Given the description of an element on the screen output the (x, y) to click on. 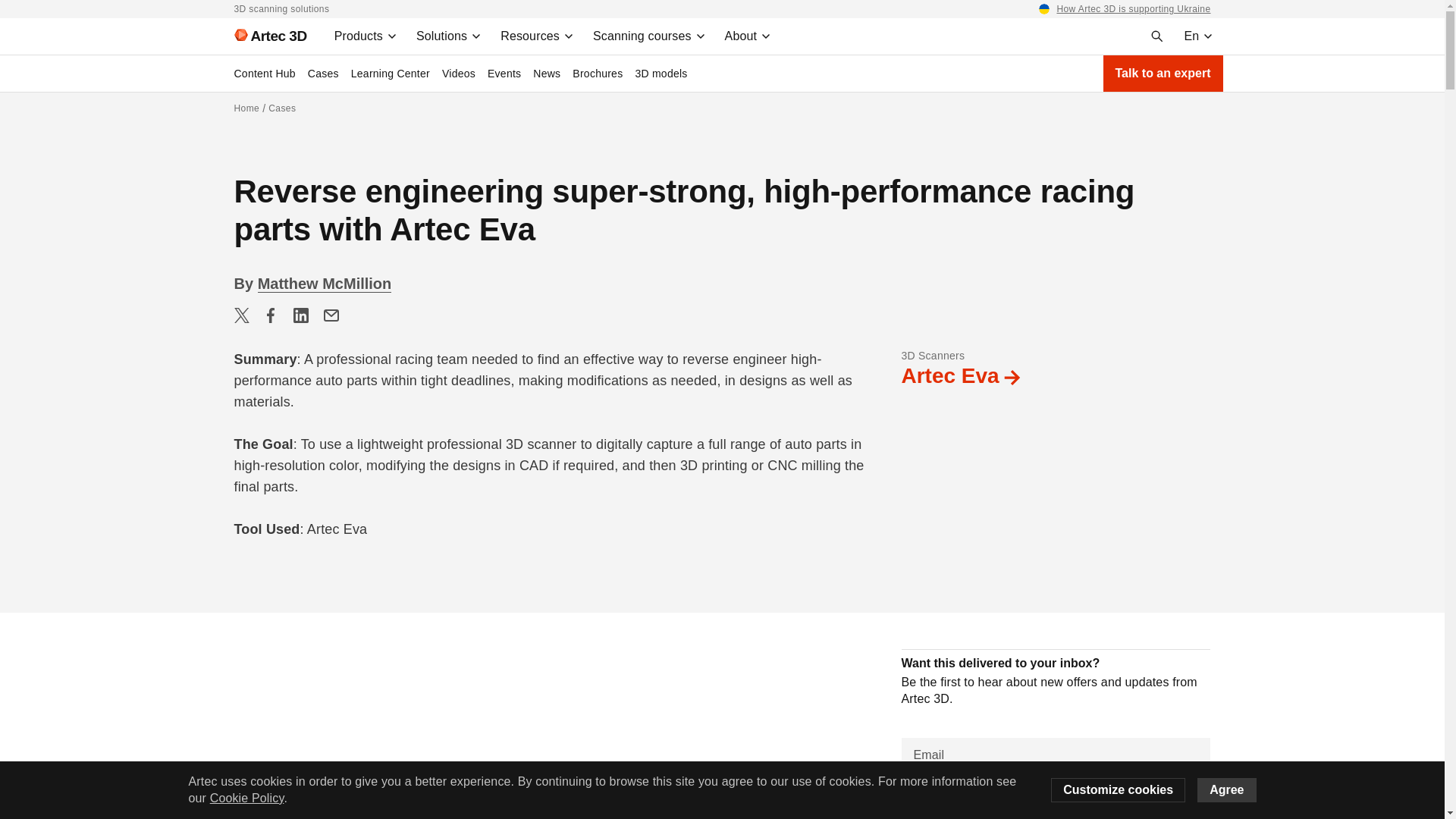
Sign up (1055, 807)
Cases (281, 108)
Cookie Policy (246, 797)
Artec 3D (263, 36)
Products (365, 36)
Home (245, 108)
Solutions (449, 36)
